Given the description of an element on the screen output the (x, y) to click on. 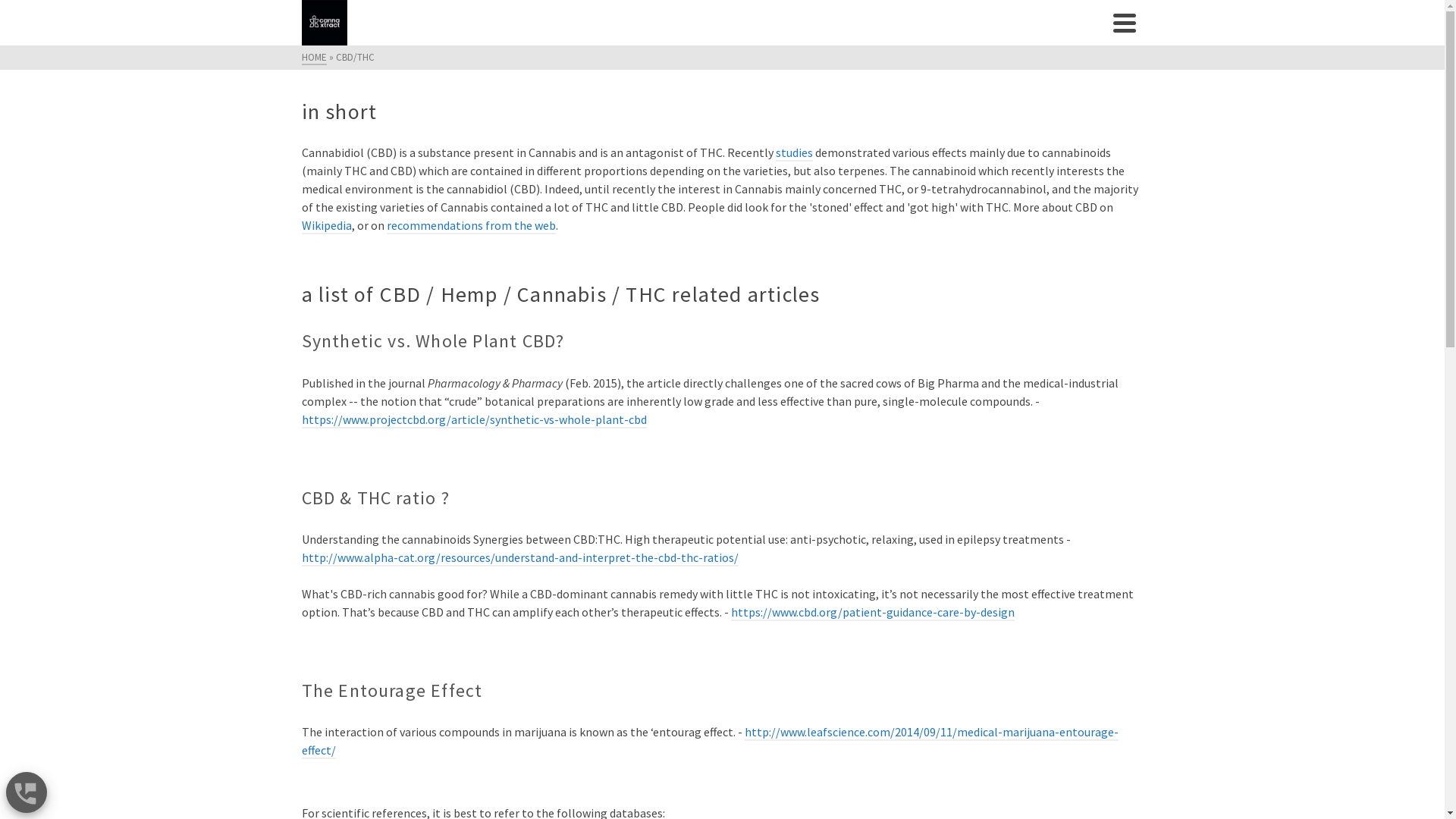
recommendations from the web Element type: text (470, 225)
studies Element type: text (793, 152)
https://www.cbd.org/patient-guidance-care-by-design Element type: text (872, 612)
Wikipedia Element type: text (326, 225)
HOME Element type: text (313, 57)
